Given the description of an element on the screen output the (x, y) to click on. 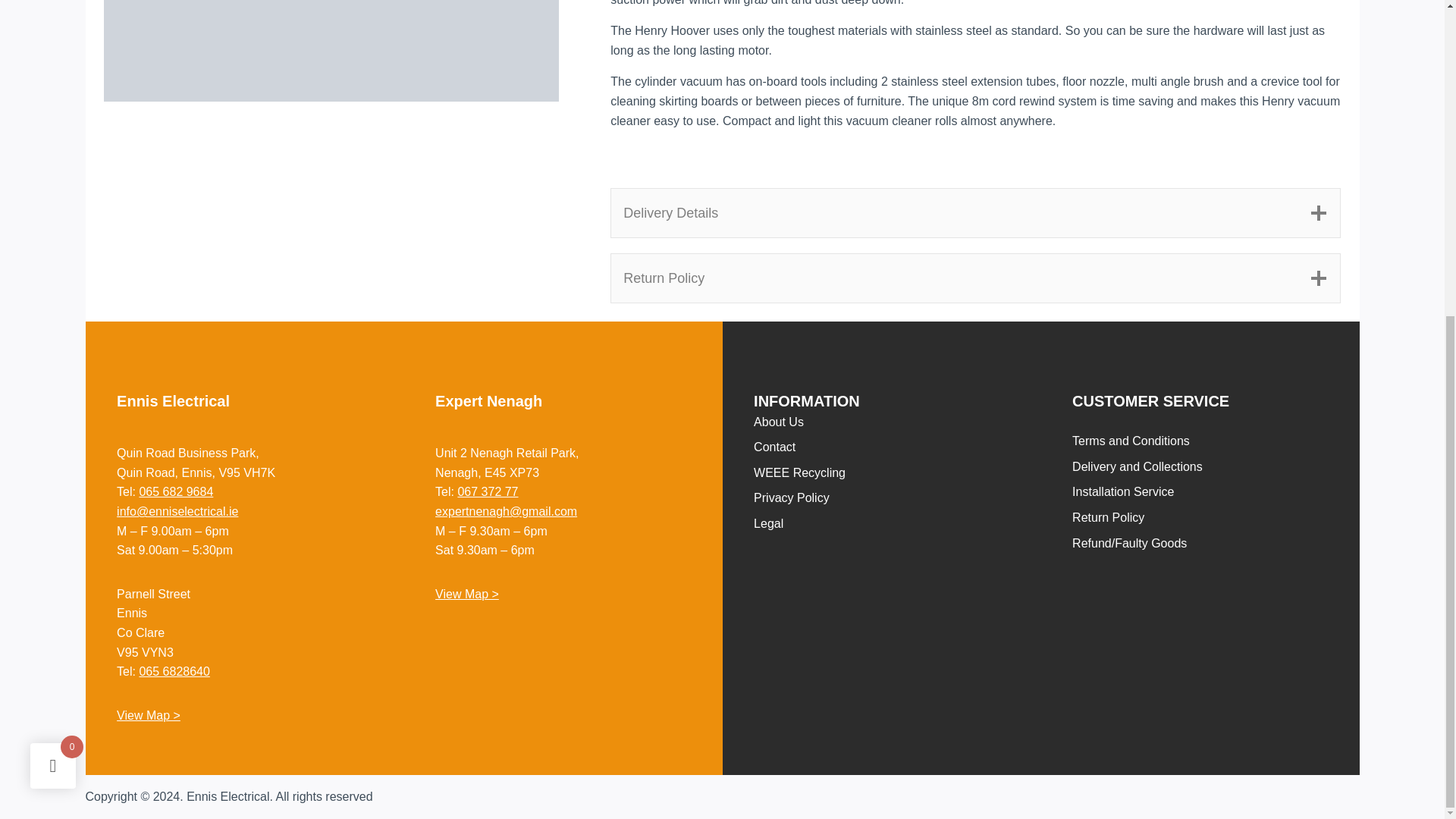
Henry Vacuum Cleaner-0 (330, 50)
